Given the description of an element on the screen output the (x, y) to click on. 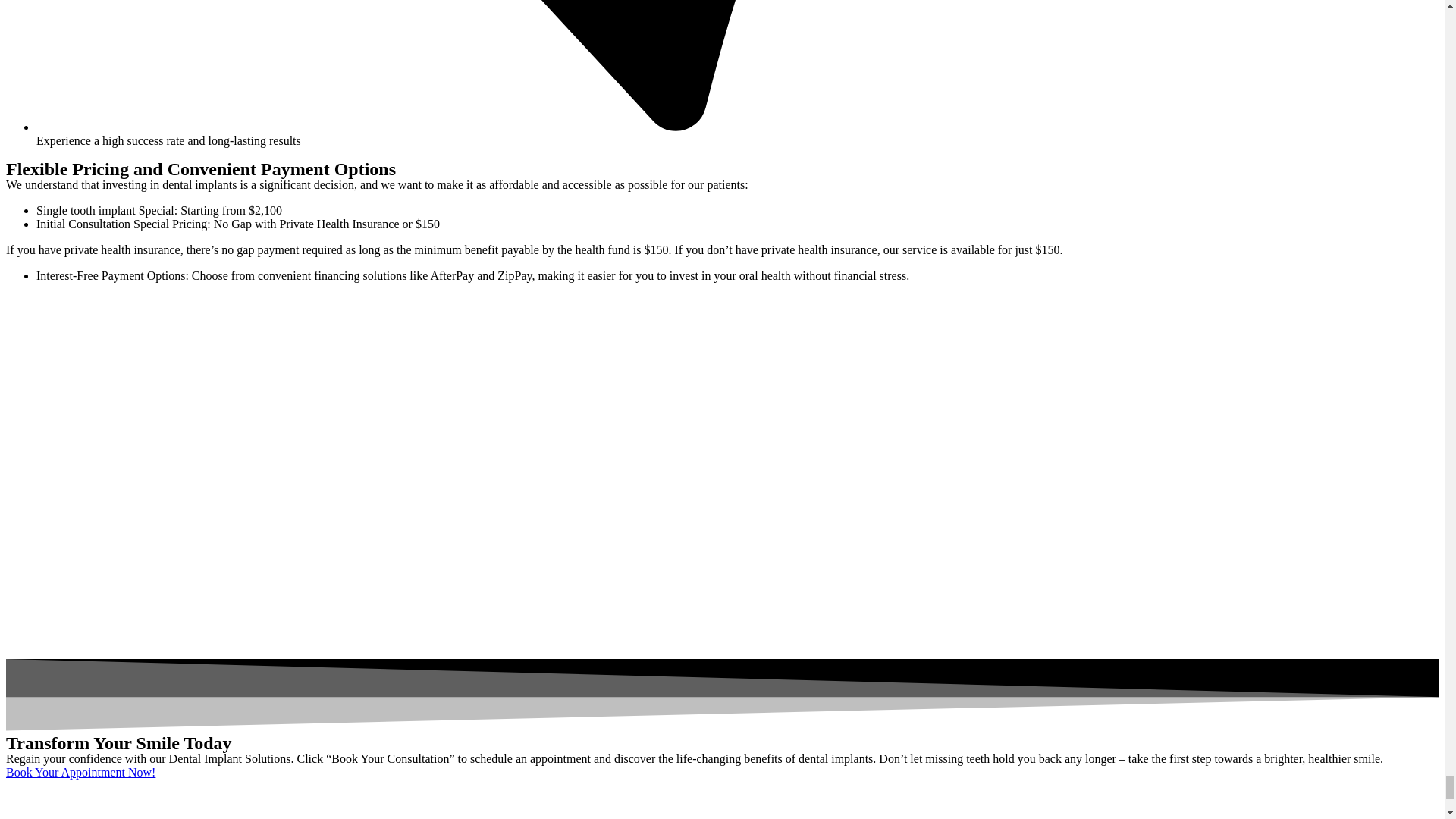
Book Your Appointment Now! (80, 771)
